Given the description of an element on the screen output the (x, y) to click on. 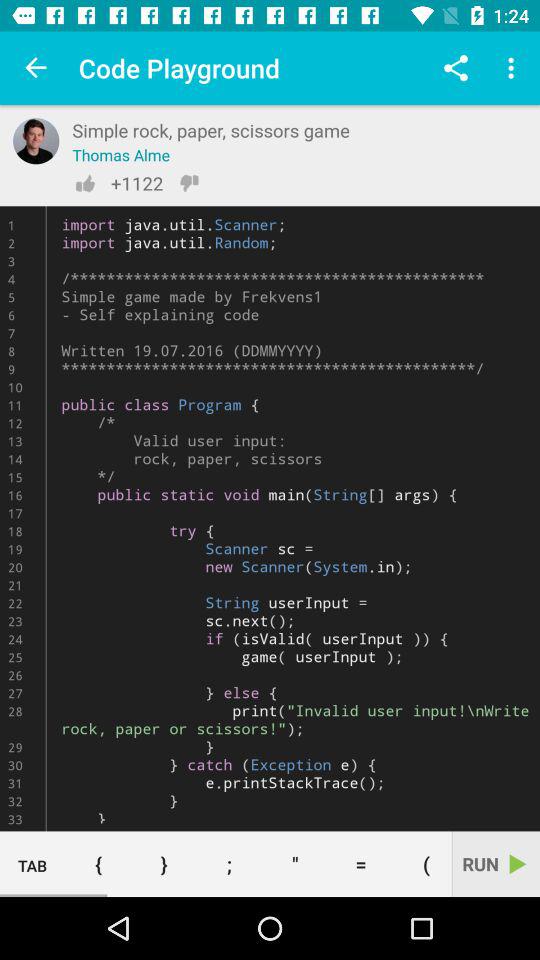
jump to the import java util (270, 518)
